Given the description of an element on the screen output the (x, y) to click on. 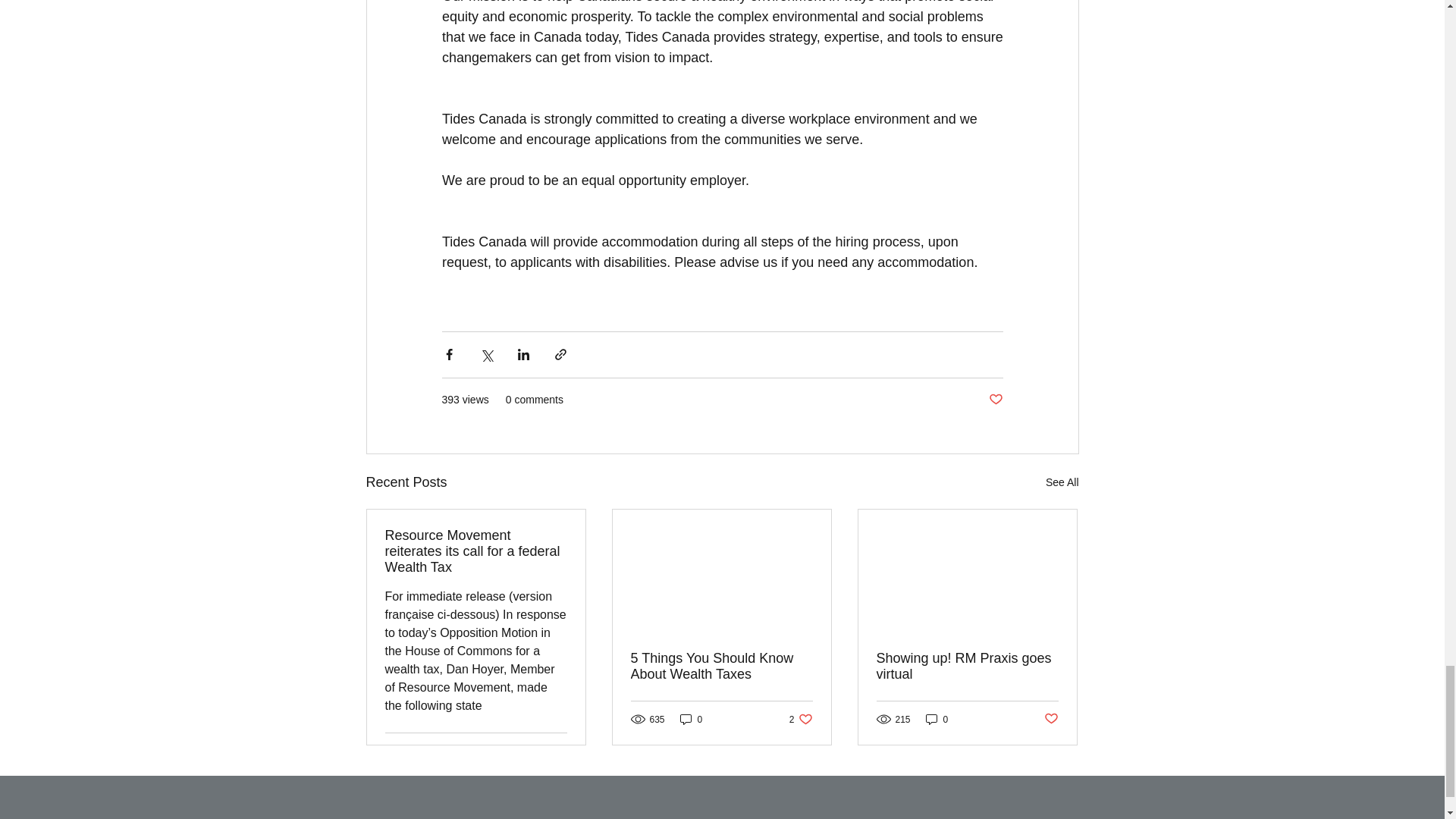
5 Things You Should Know About Wealth Taxes (721, 666)
Post not marked as liked (995, 399)
Post not marked as liked (1050, 719)
1 like. Post not marked as liked (800, 718)
See All (555, 750)
0 (1061, 482)
0 (937, 718)
Showing up! RM Praxis goes virtual (691, 718)
